Given the description of an element on the screen output the (x, y) to click on. 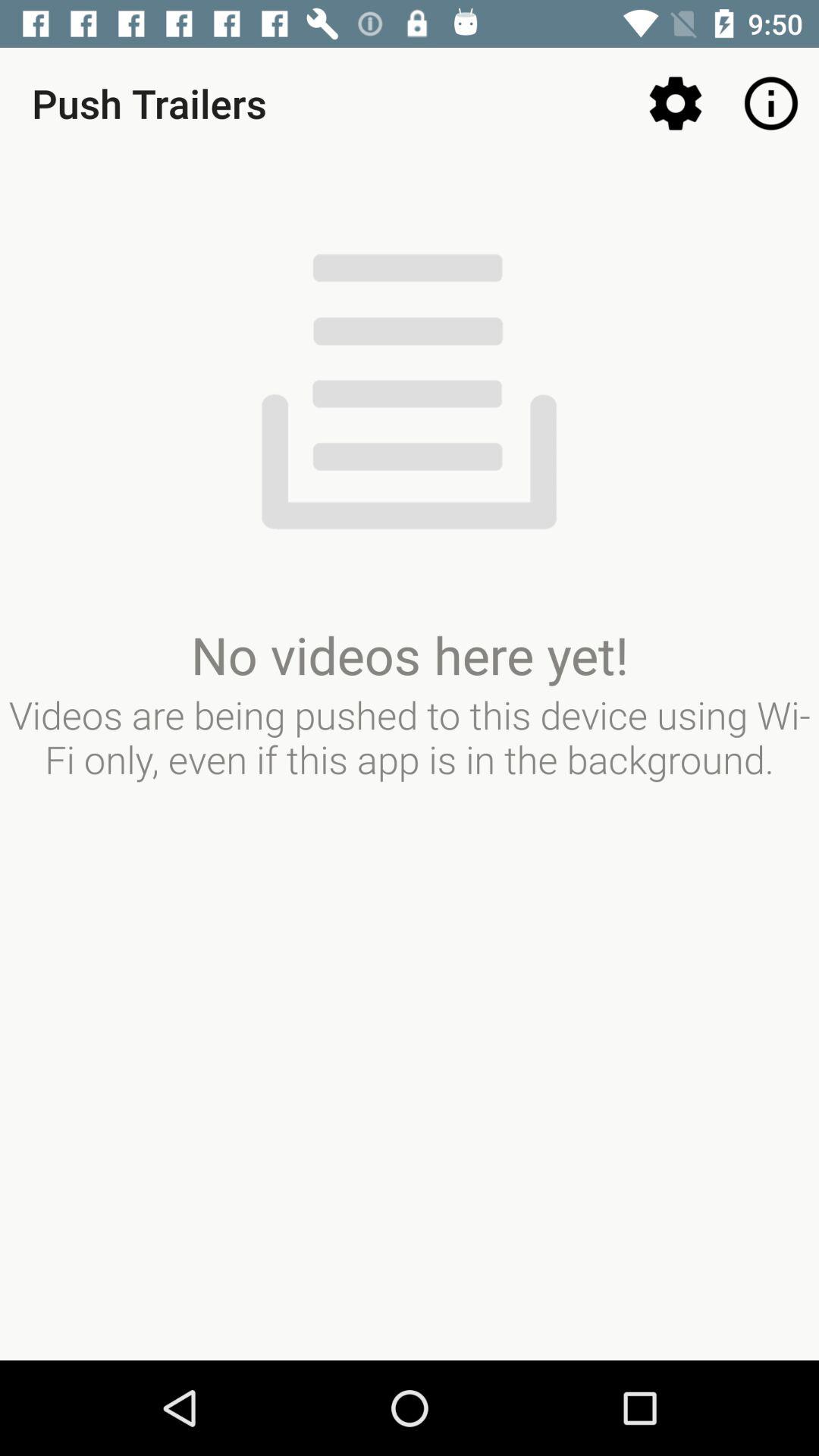
open icon next to push trailers item (675, 103)
